Given the description of an element on the screen output the (x, y) to click on. 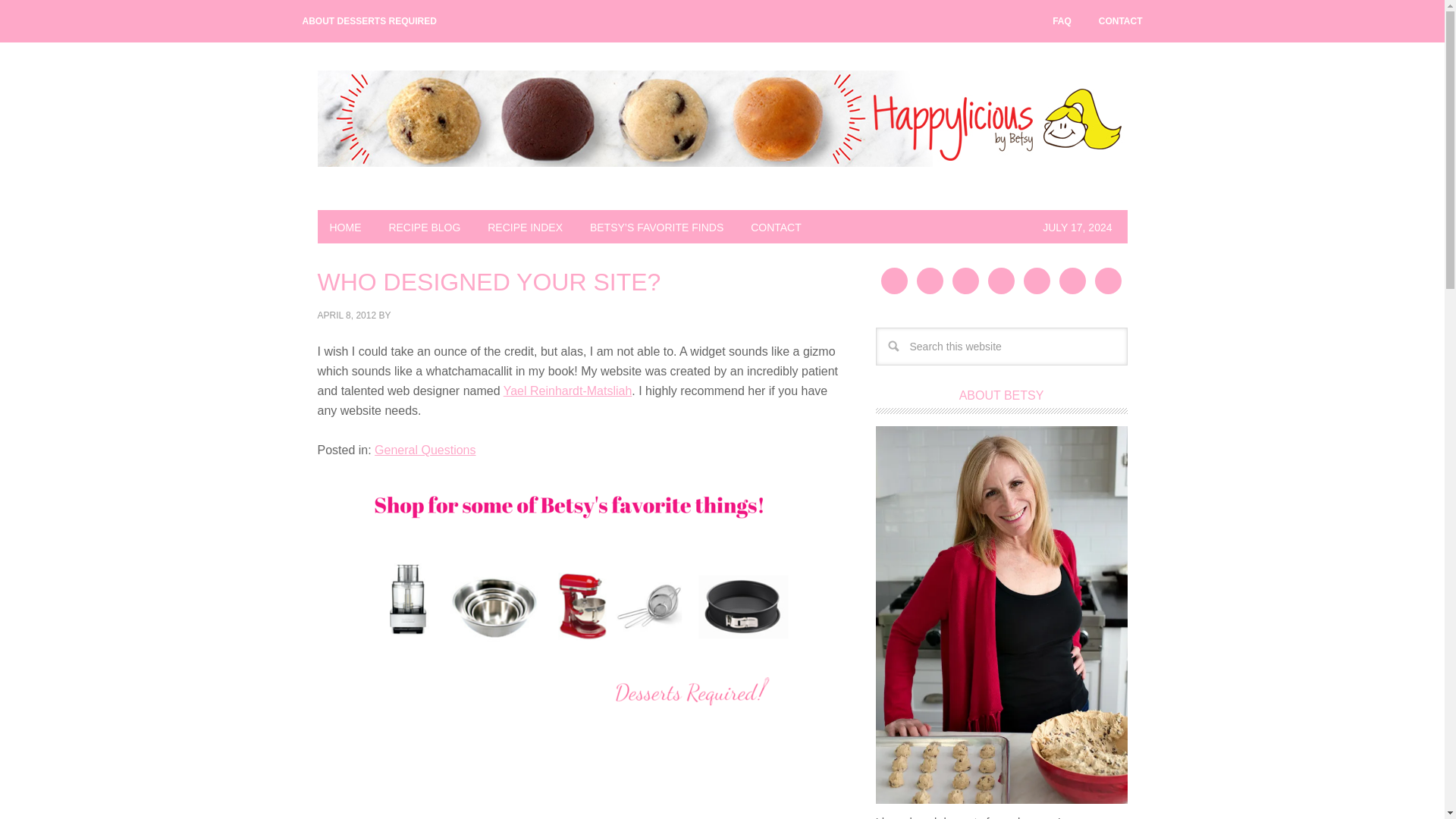
RECIPE INDEX (525, 226)
DESSERTS REQUIRED (721, 190)
CONTACT (775, 226)
FAQ (1062, 21)
RECIPE BLOG (423, 226)
ABOUT DESSERTS REQUIRED (368, 21)
Yael Reinhardt-Matsliah (567, 390)
General Questions (425, 449)
Ice Cream (525, 226)
CONTACT (1120, 21)
HOME (344, 226)
